Given the description of an element on the screen output the (x, y) to click on. 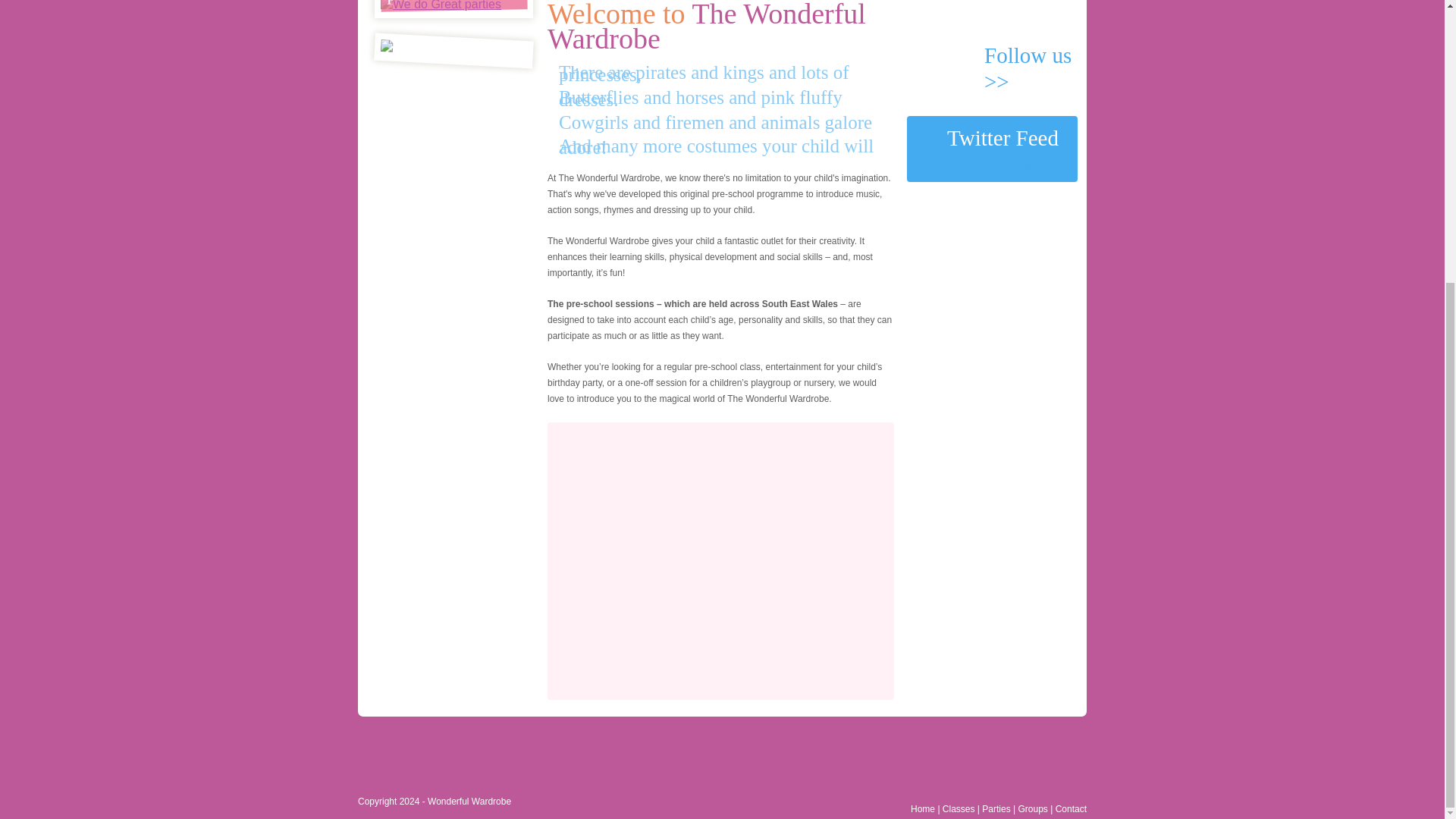
Wonderful Wardrobe (469, 801)
Home (922, 808)
Contact (1070, 808)
Groups (1031, 808)
Tweets by TheWWardrobe (984, 166)
Parties (995, 808)
Classes (958, 808)
